Given the description of an element on the screen output the (x, y) to click on. 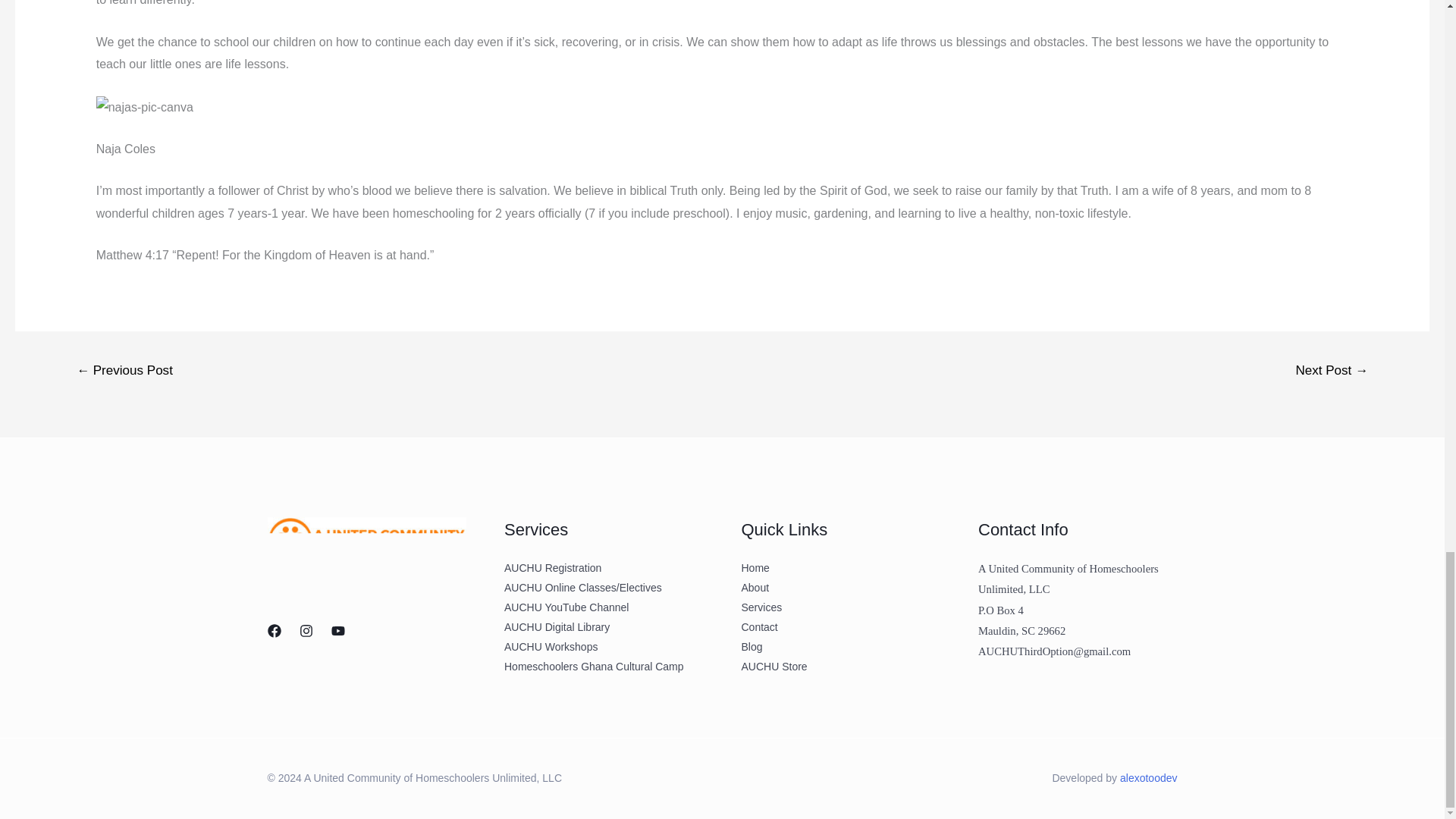
AUCHU Registration (552, 567)
AUCHU YouTube Channel (565, 607)
